Given the description of an element on the screen output the (x, y) to click on. 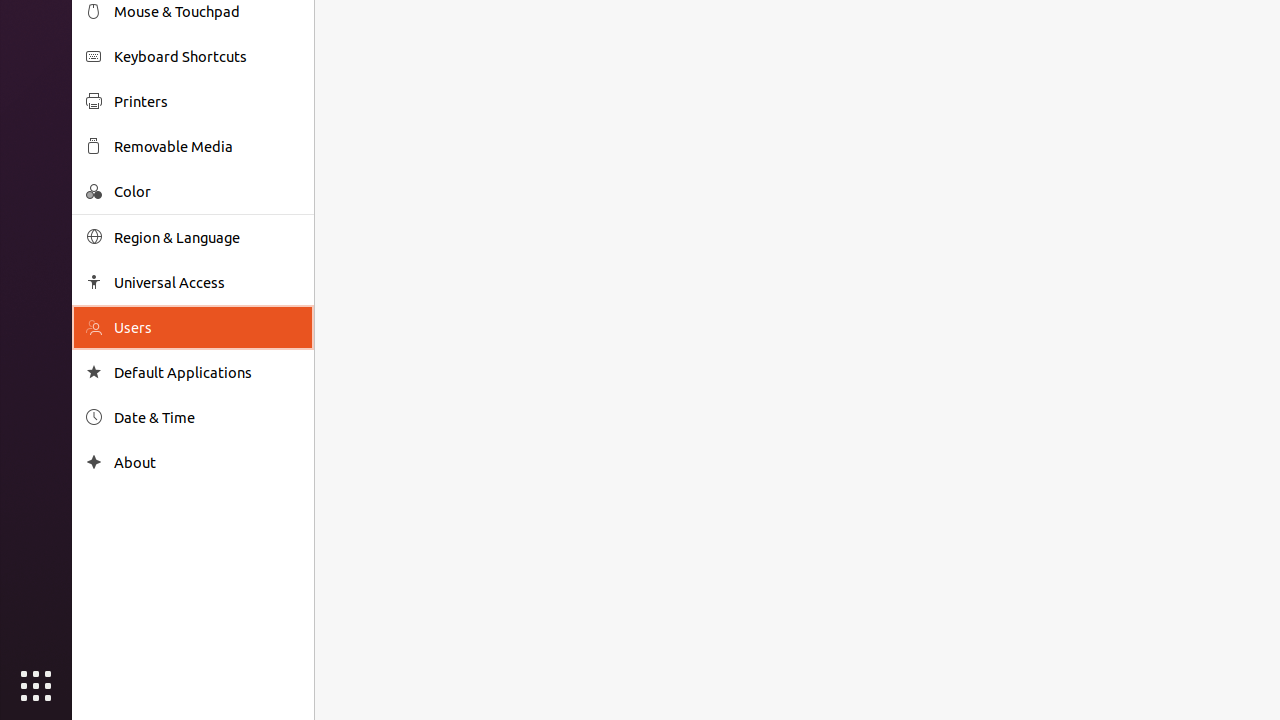
Keyboard Shortcuts Element type: label (207, 56)
About Element type: icon (94, 462)
